Given the description of an element on the screen output the (x, y) to click on. 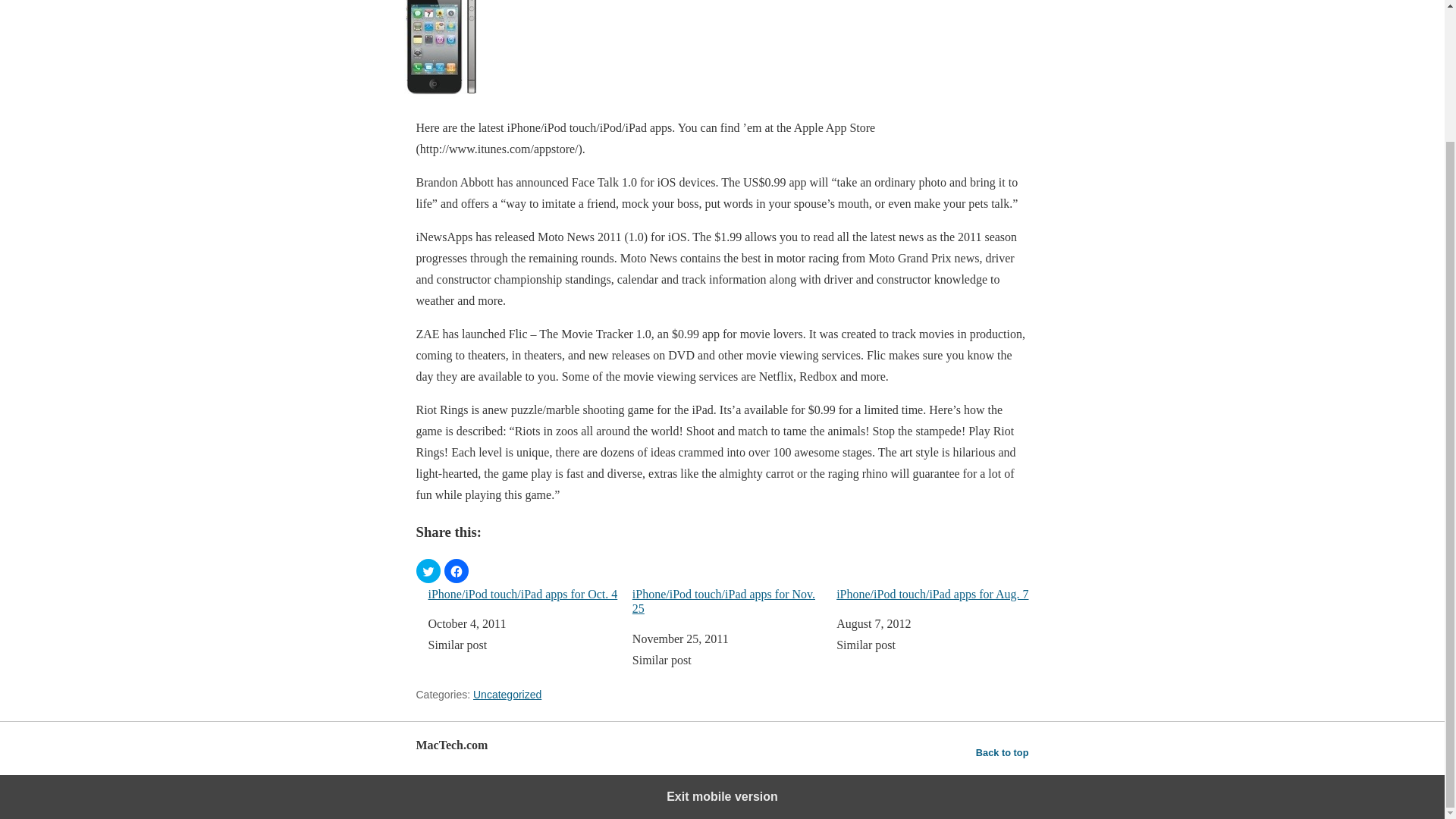
Click to share on Twitter (426, 570)
Back to top (1002, 752)
Click to share on Facebook (456, 570)
Uncategorized (507, 694)
